Given the description of an element on the screen output the (x, y) to click on. 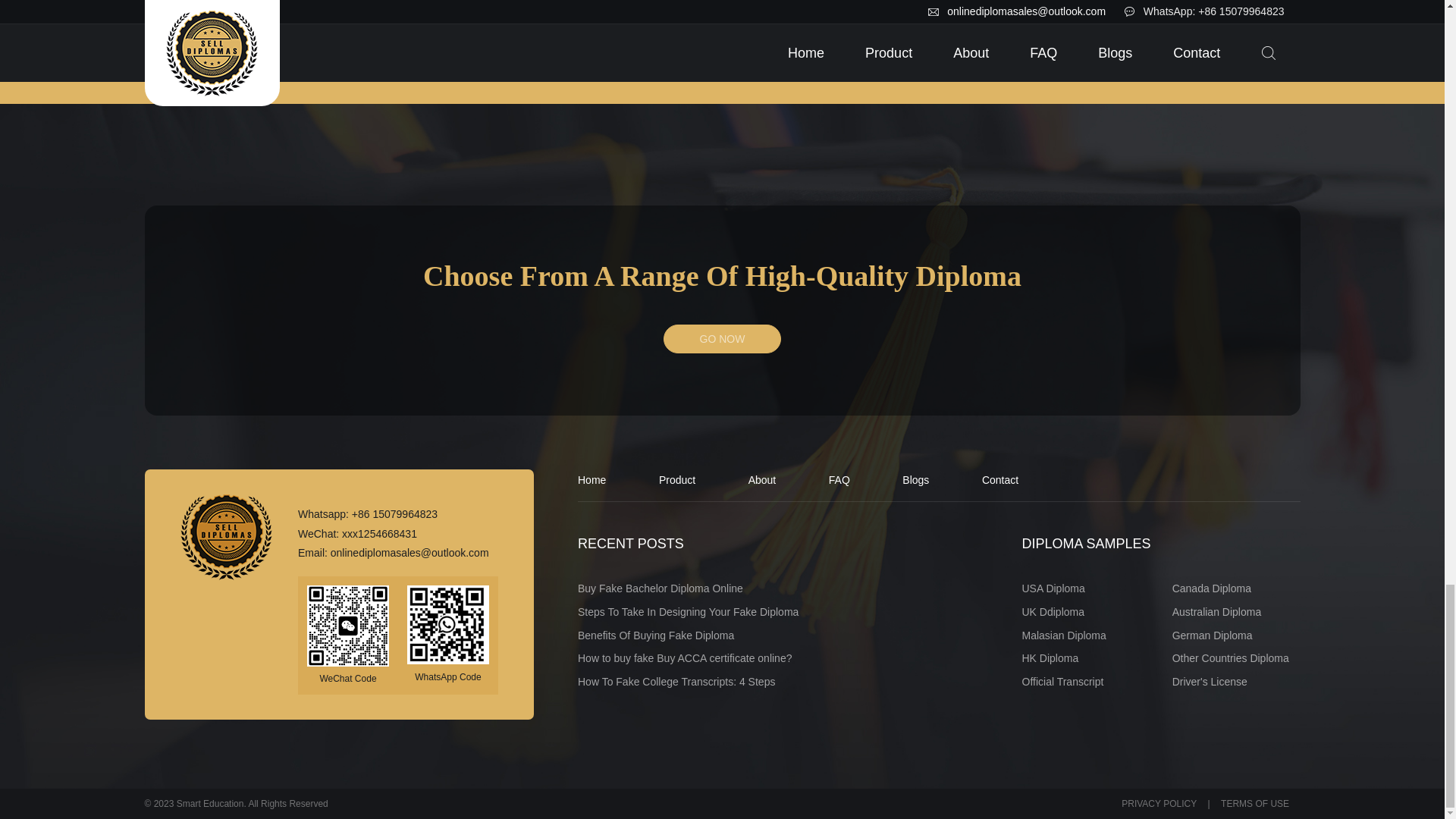
GO NOW (721, 338)
how to buy university of new orleans degree? (1182, 13)
Home (591, 480)
Blogs (915, 480)
Contact (999, 480)
How to buy Liberty University degree? (261, 6)
Buy Fake Bachelor Diploma Online (660, 588)
Product (677, 480)
About (762, 480)
Sell fake University of Chicago diploma online. (568, 13)
